Given the description of an element on the screen output the (x, y) to click on. 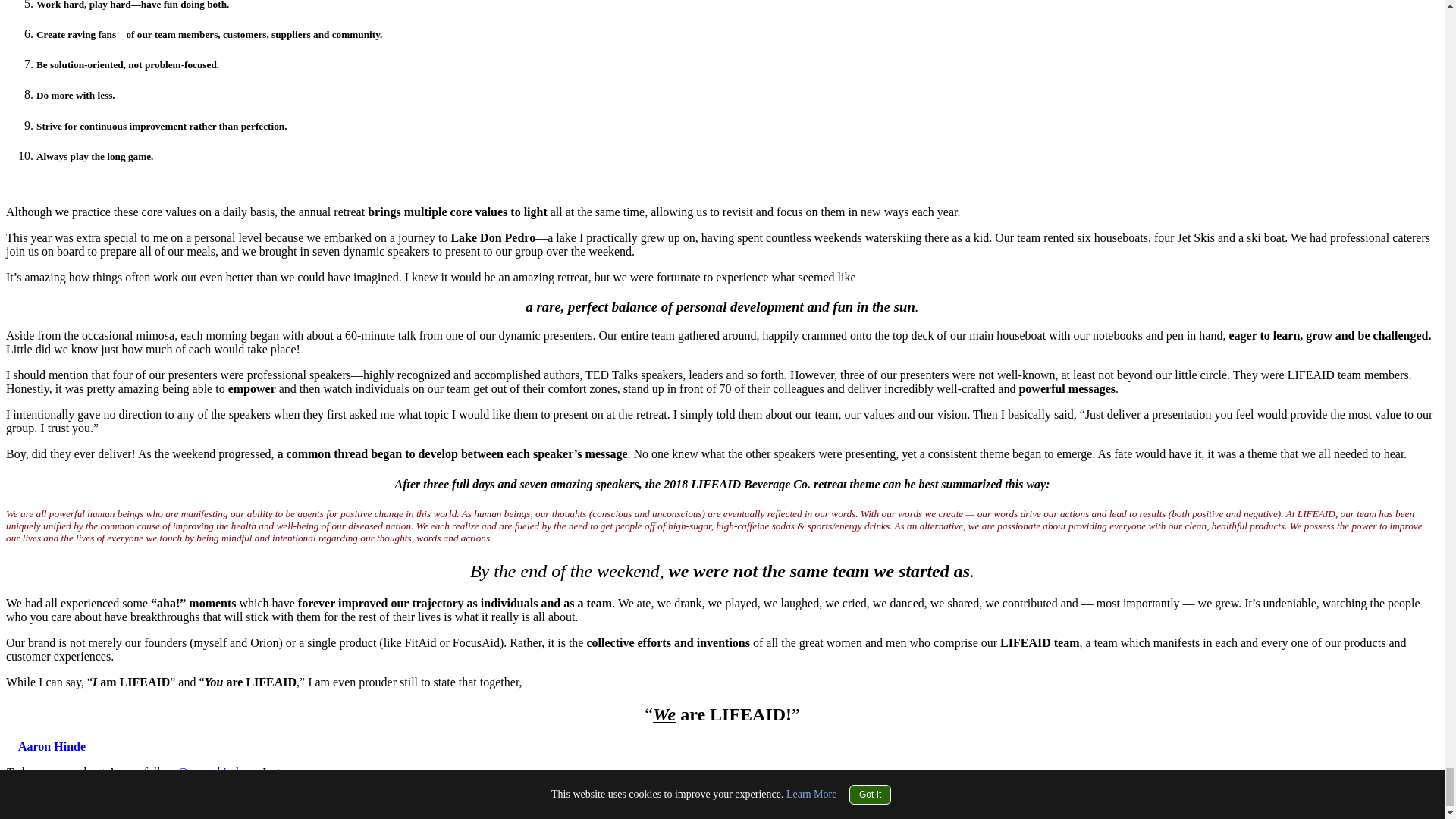
Aaron Hinde (51, 746)
